Given the description of an element on the screen output the (x, y) to click on. 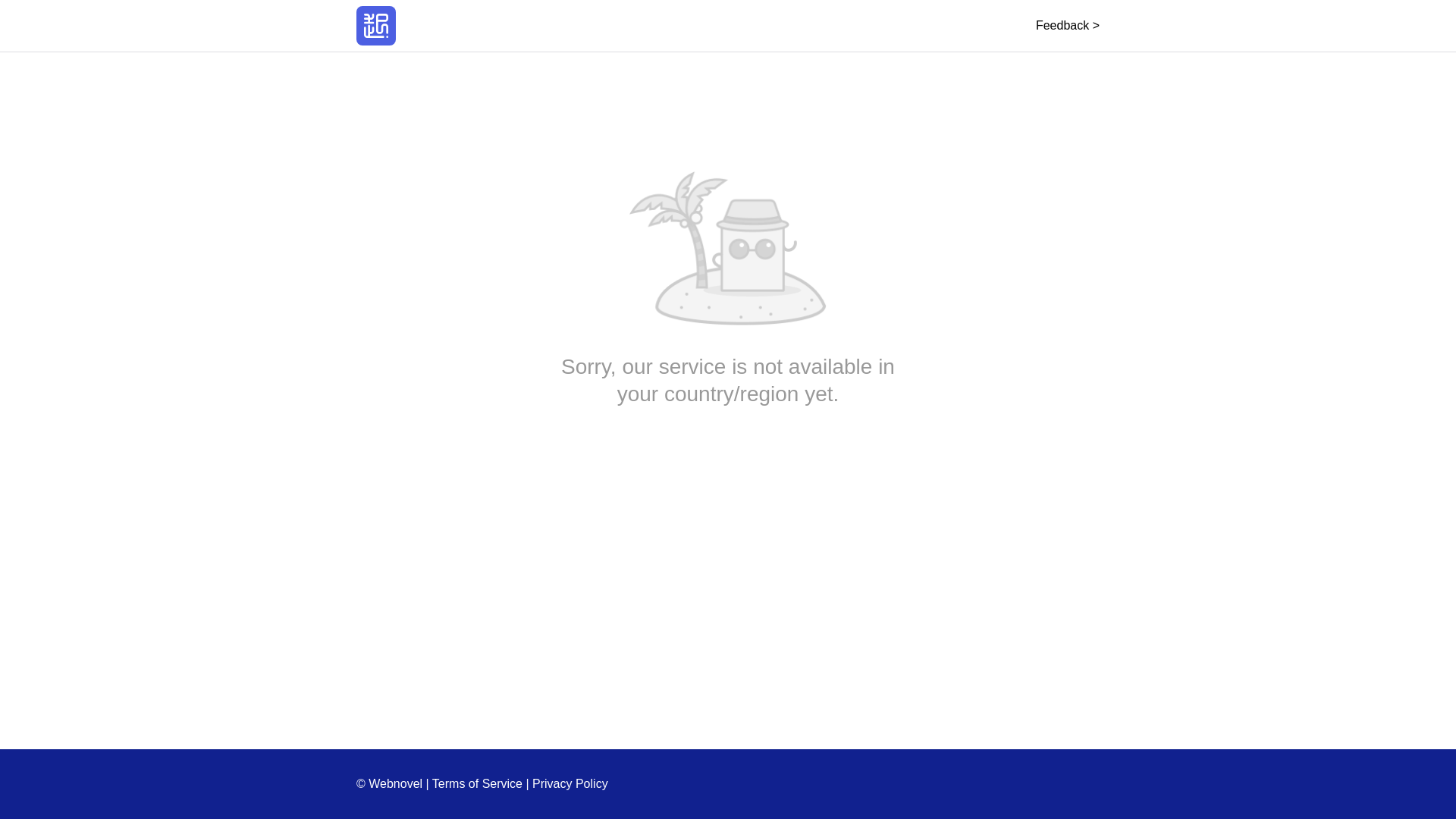
Feedback (1067, 24)
Terms of Service (477, 783)
Privacy Policy (570, 783)
Webnovel (376, 25)
Privacy Policy (570, 783)
Terms of Service (477, 783)
Webnovel (376, 25)
